Given the description of an element on the screen output the (x, y) to click on. 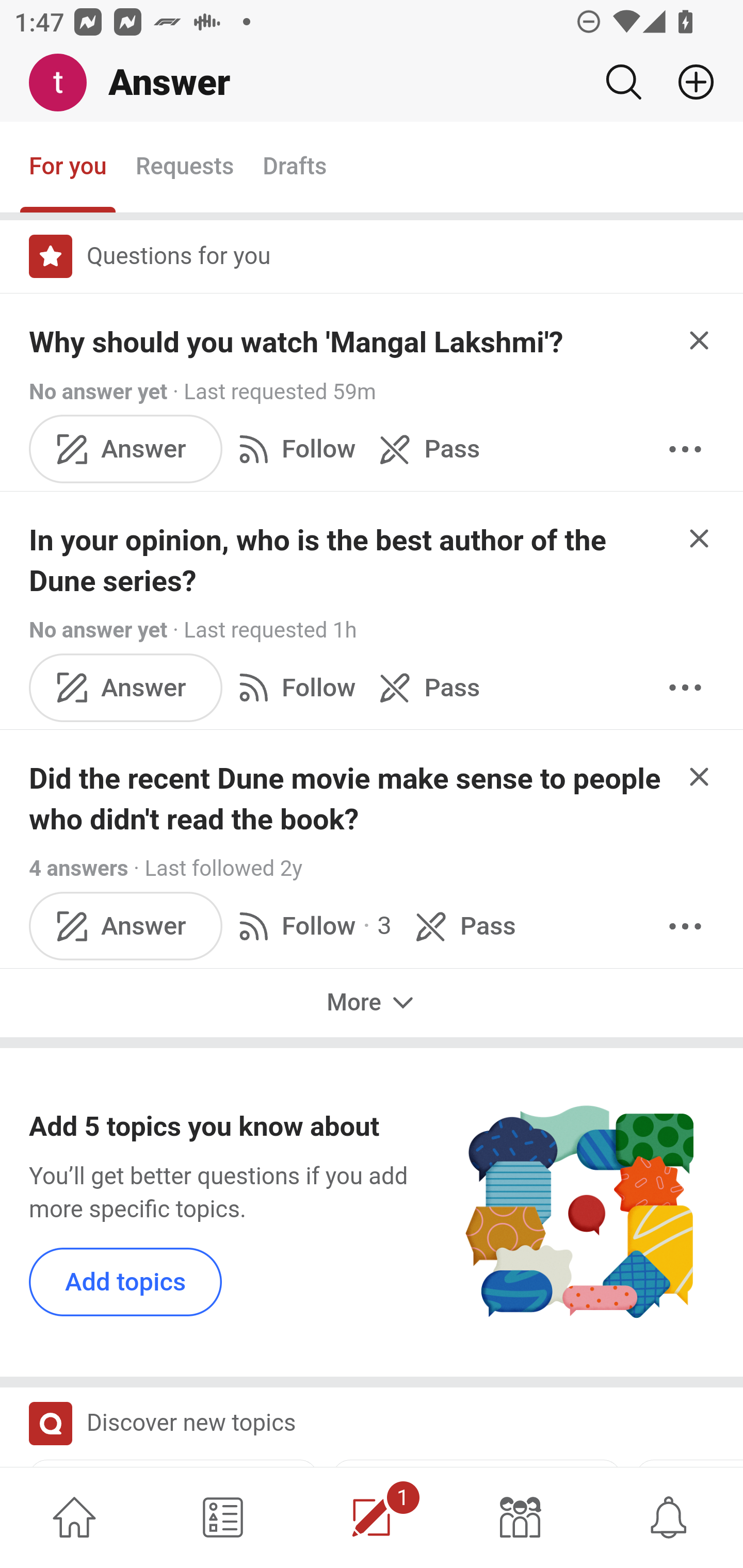
Me (64, 83)
Search (623, 82)
Add (688, 82)
For you (68, 167)
Requests (183, 167)
Drafts (295, 167)
Hide (699, 340)
Why should you watch 'Mangal Lakshmi'? (295, 342)
No answer yet (97, 390)
Answer (125, 448)
Follow (293, 448)
Pass (425, 448)
More (684, 448)
Hide (699, 537)
No answer yet (97, 629)
Answer (125, 687)
Follow (293, 687)
Pass (425, 687)
More (684, 687)
Hide (699, 776)
4 answers 4  answers (79, 868)
Answer (125, 925)
Follow · 3 (311, 925)
Pass (461, 925)
More (684, 925)
More (371, 1002)
Add topics (125, 1281)
